Given the description of an element on the screen output the (x, y) to click on. 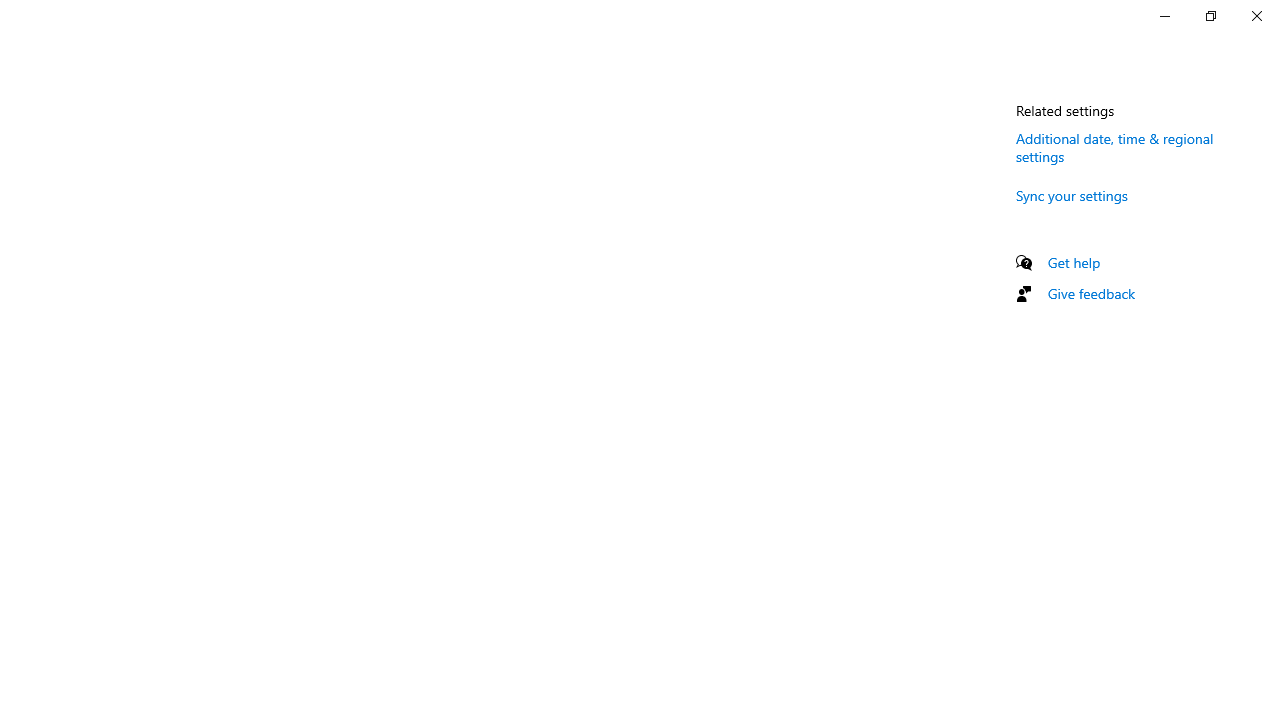
Additional date, time & regional settings (1114, 147)
Sync your settings (1071, 195)
